Given the description of an element on the screen output the (x, y) to click on. 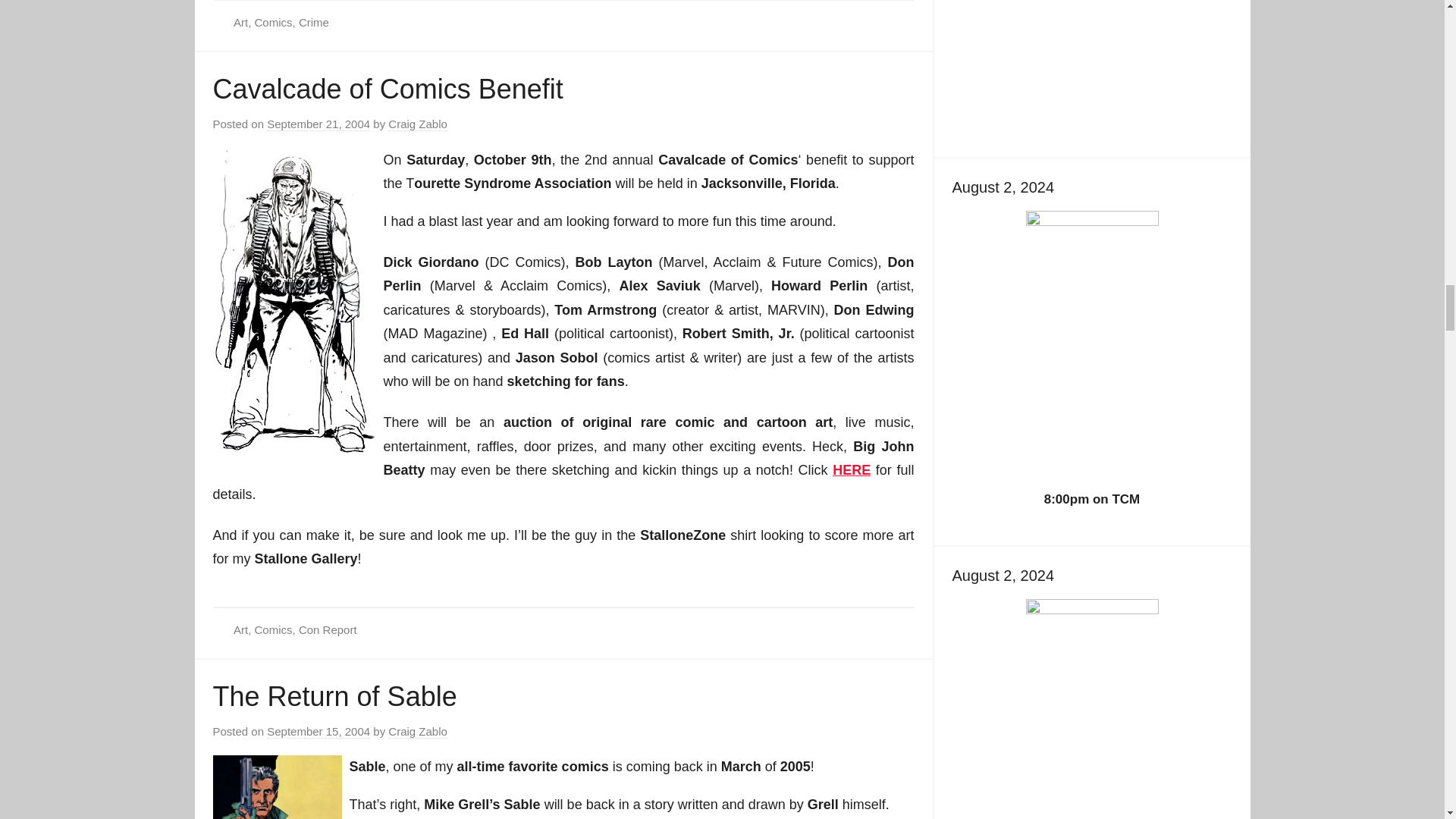
View all posts by Craig Zablo (417, 124)
View all posts by Craig Zablo (417, 731)
